Given the description of an element on the screen output the (x, y) to click on. 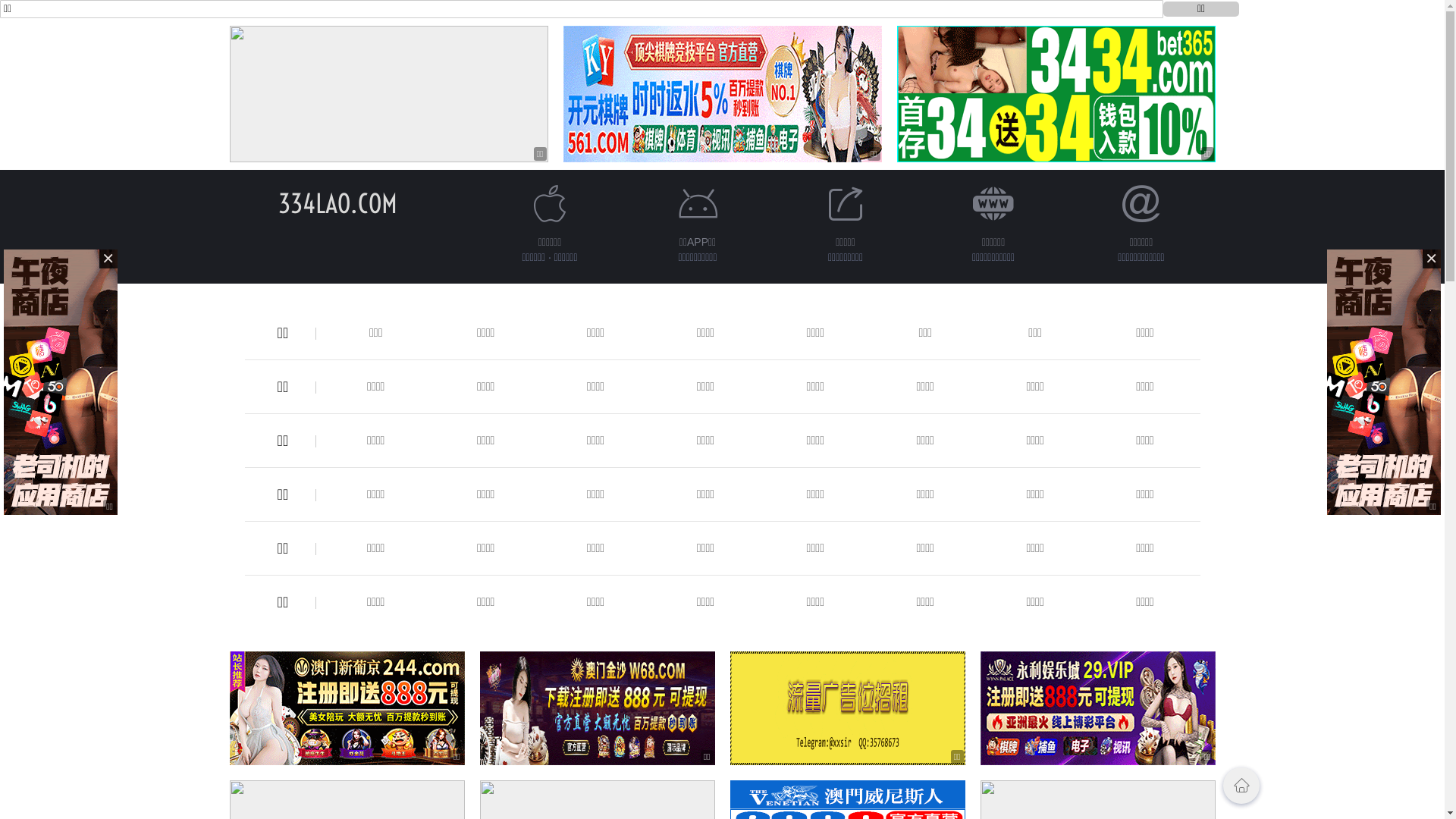
334LAO.COM Element type: text (337, 203)
